Given the description of an element on the screen output the (x, y) to click on. 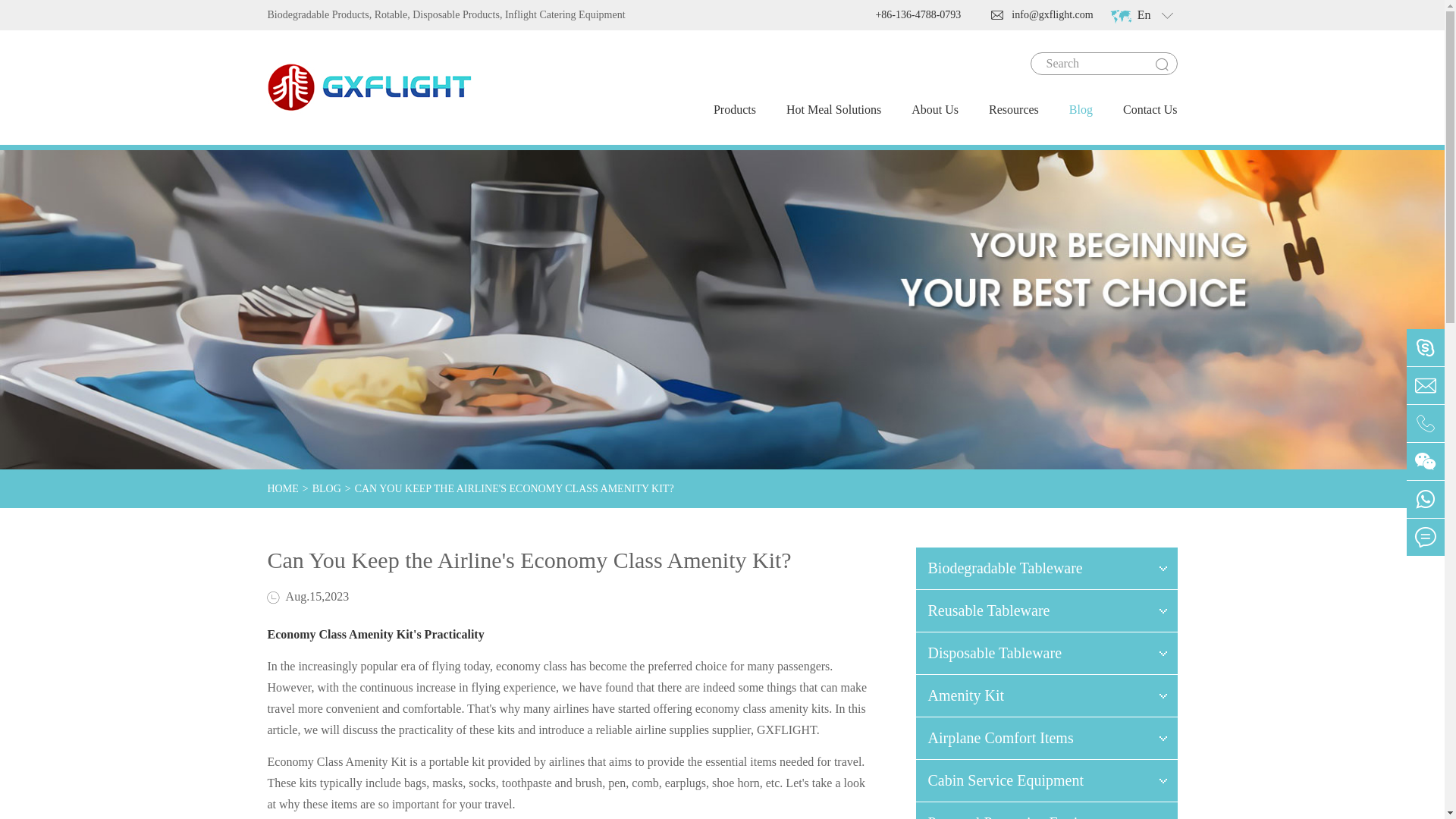
www (1120, 16)
Hot Meal Solutions (833, 109)
En (1144, 14)
